Given the description of an element on the screen output the (x, y) to click on. 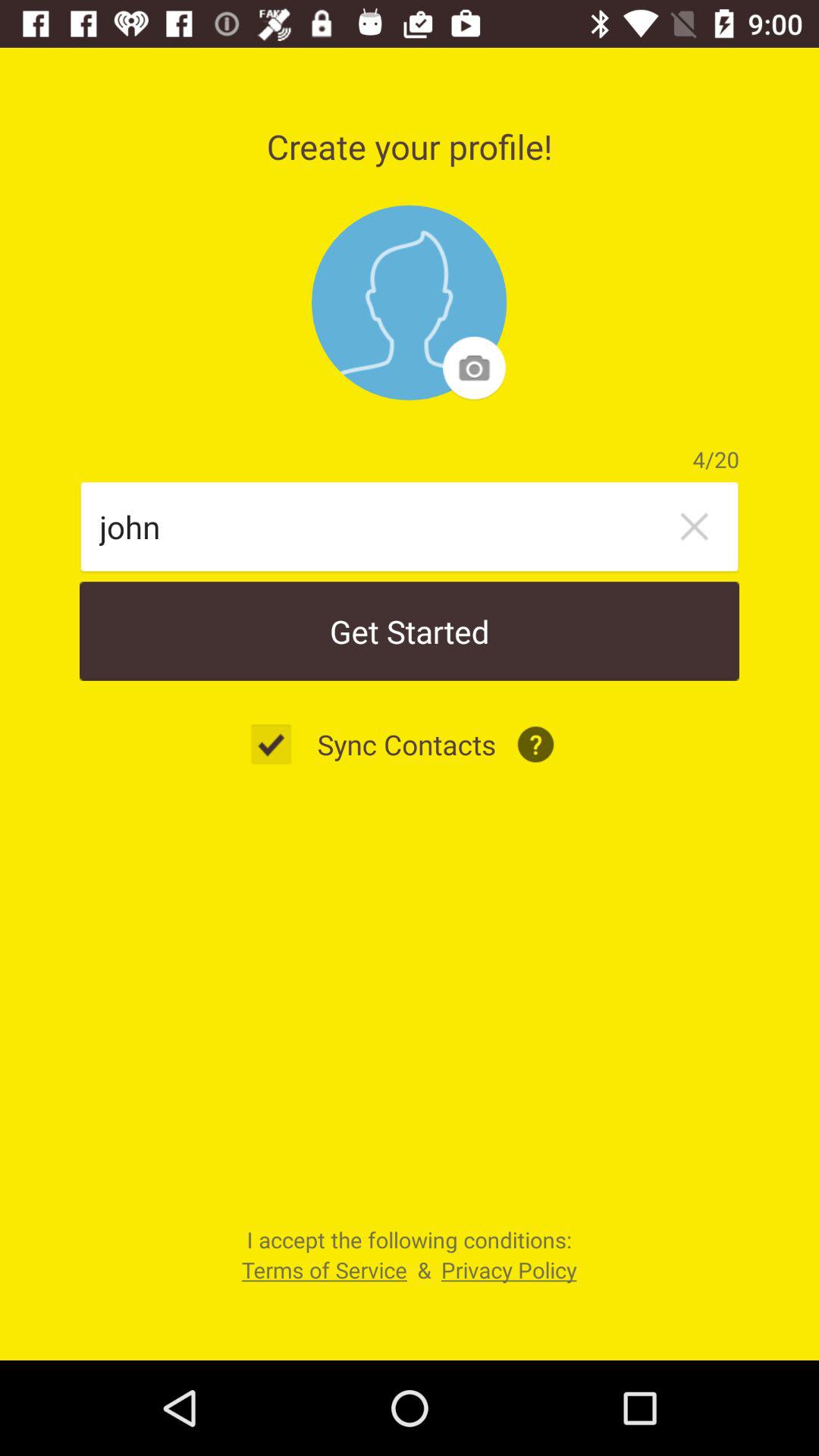
open item on the right (694, 526)
